Given the description of an element on the screen output the (x, y) to click on. 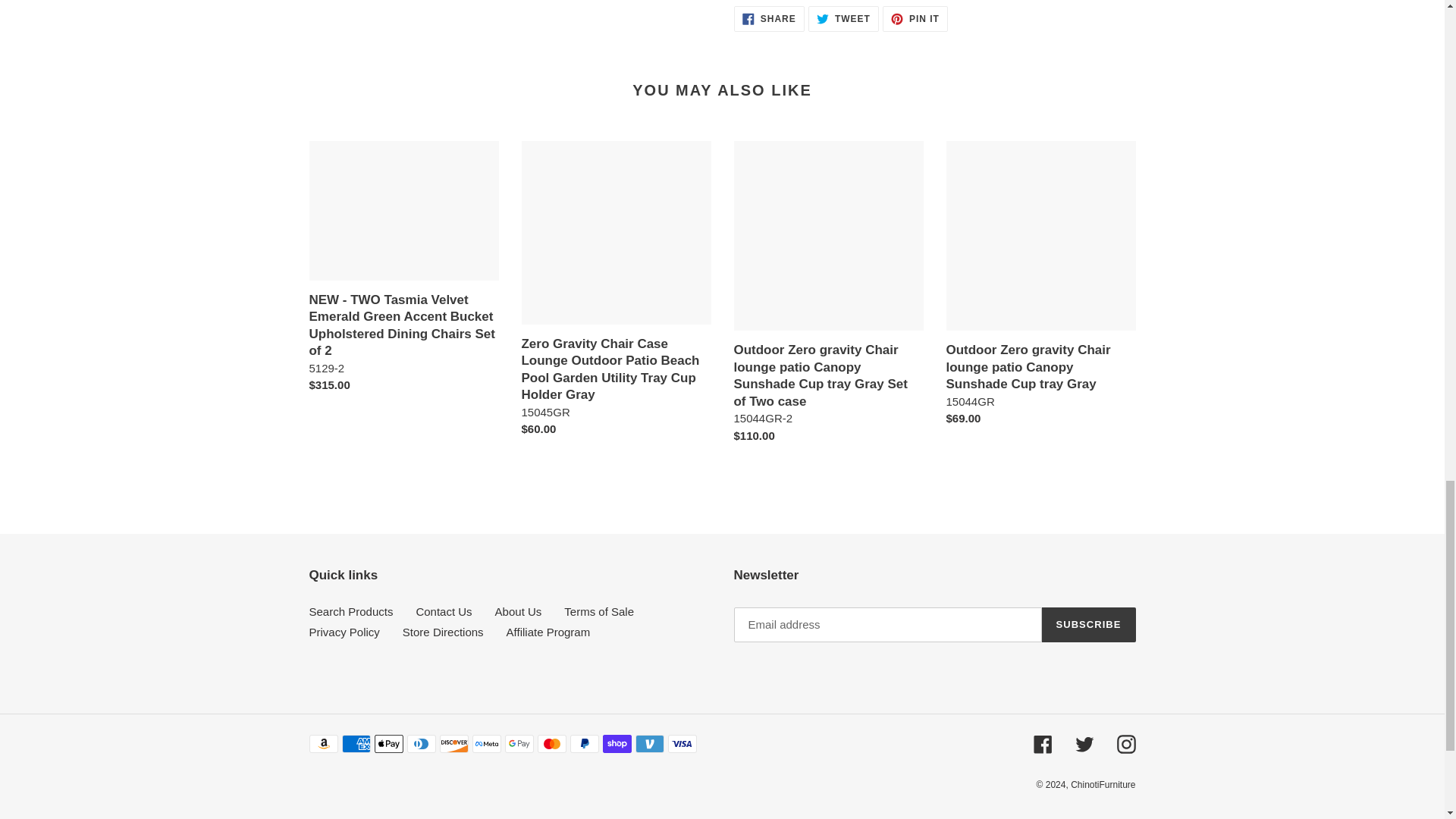
Search Products (350, 611)
Contact Us (769, 18)
